Given the description of an element on the screen output the (x, y) to click on. 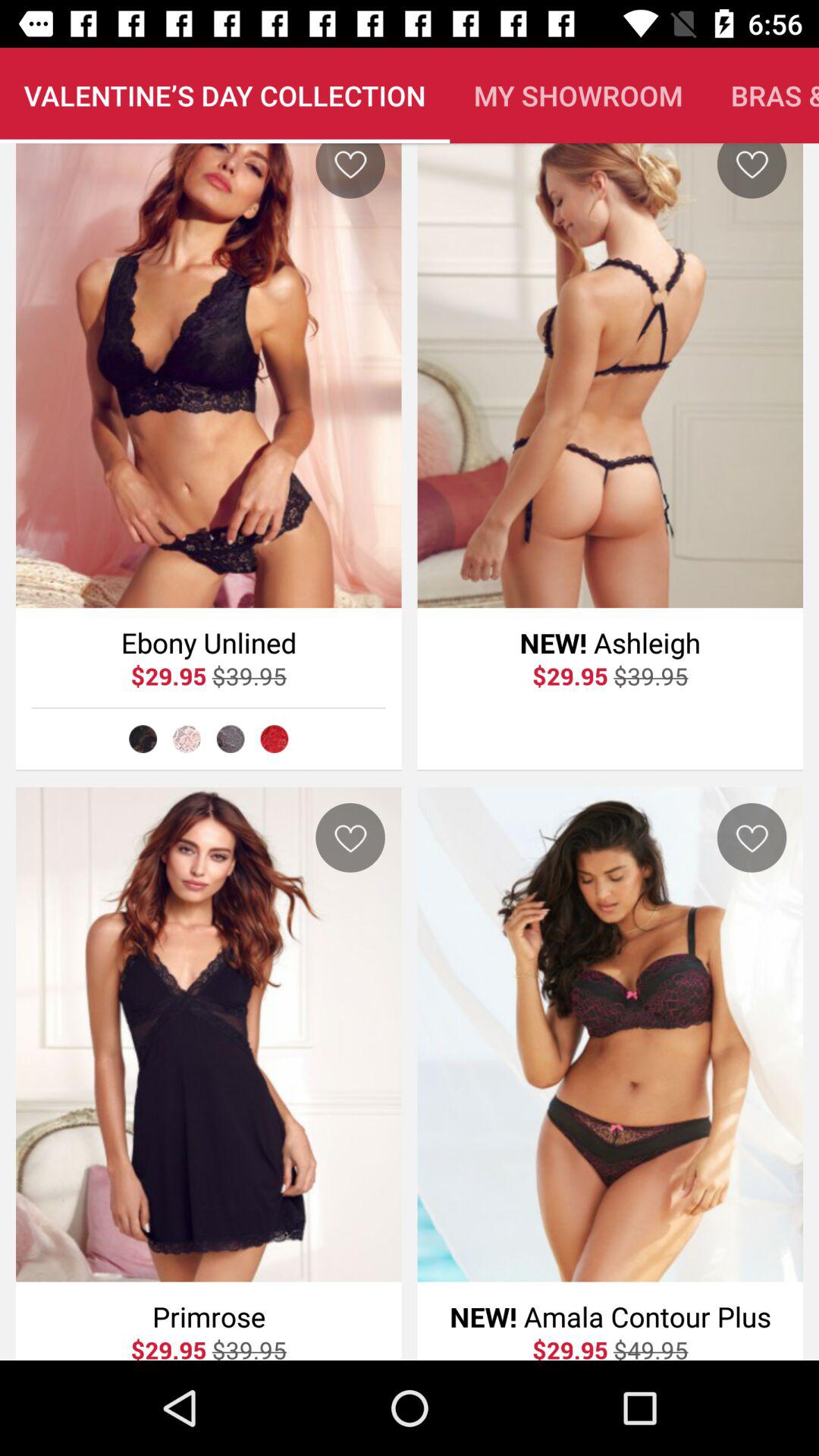
toggle loading option (274, 738)
